Given the description of an element on the screen output the (x, y) to click on. 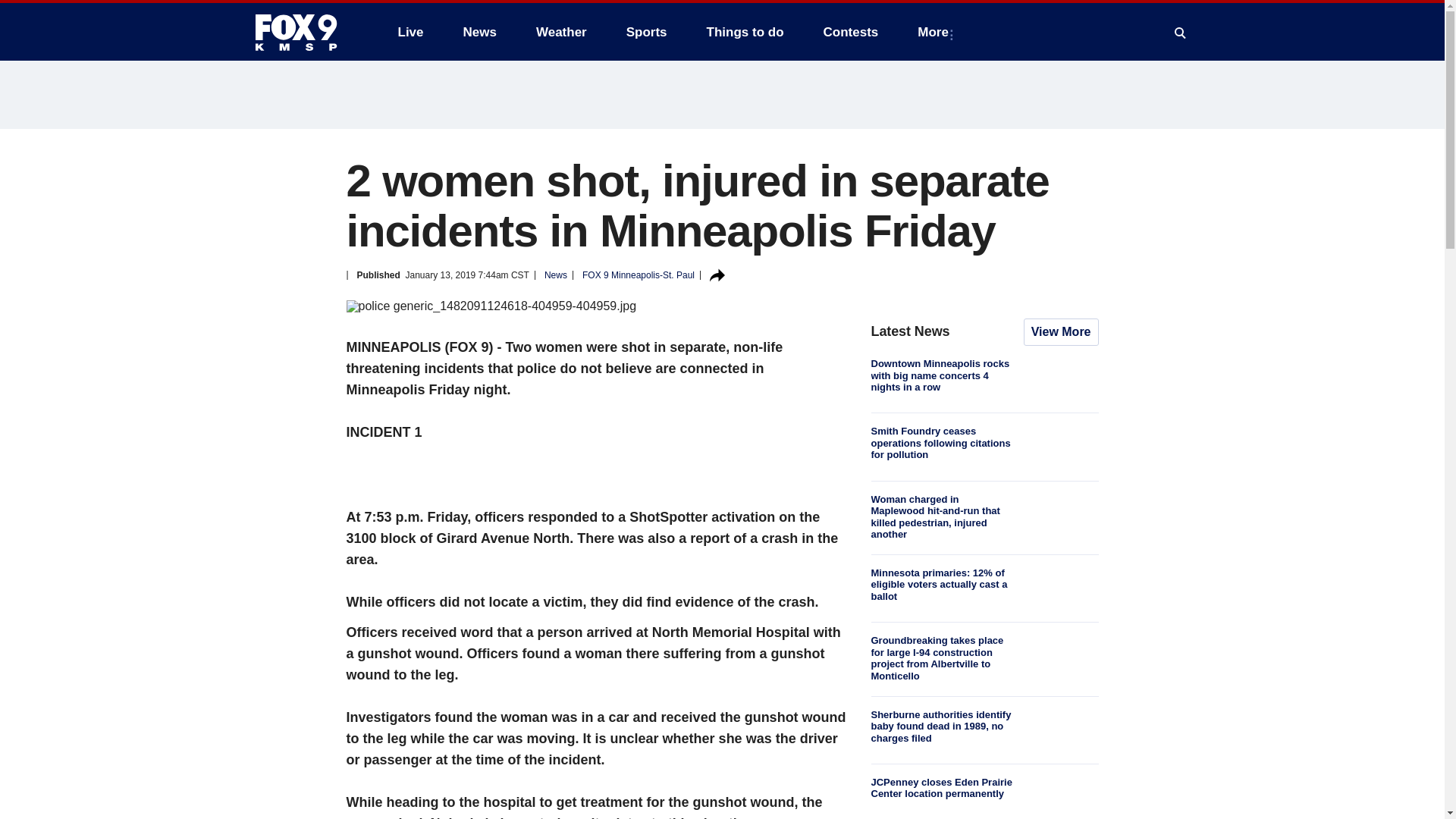
Contests (850, 32)
Weather (561, 32)
Things to do (745, 32)
Sports (646, 32)
More (935, 32)
News (479, 32)
Live (410, 32)
